Given the description of an element on the screen output the (x, y) to click on. 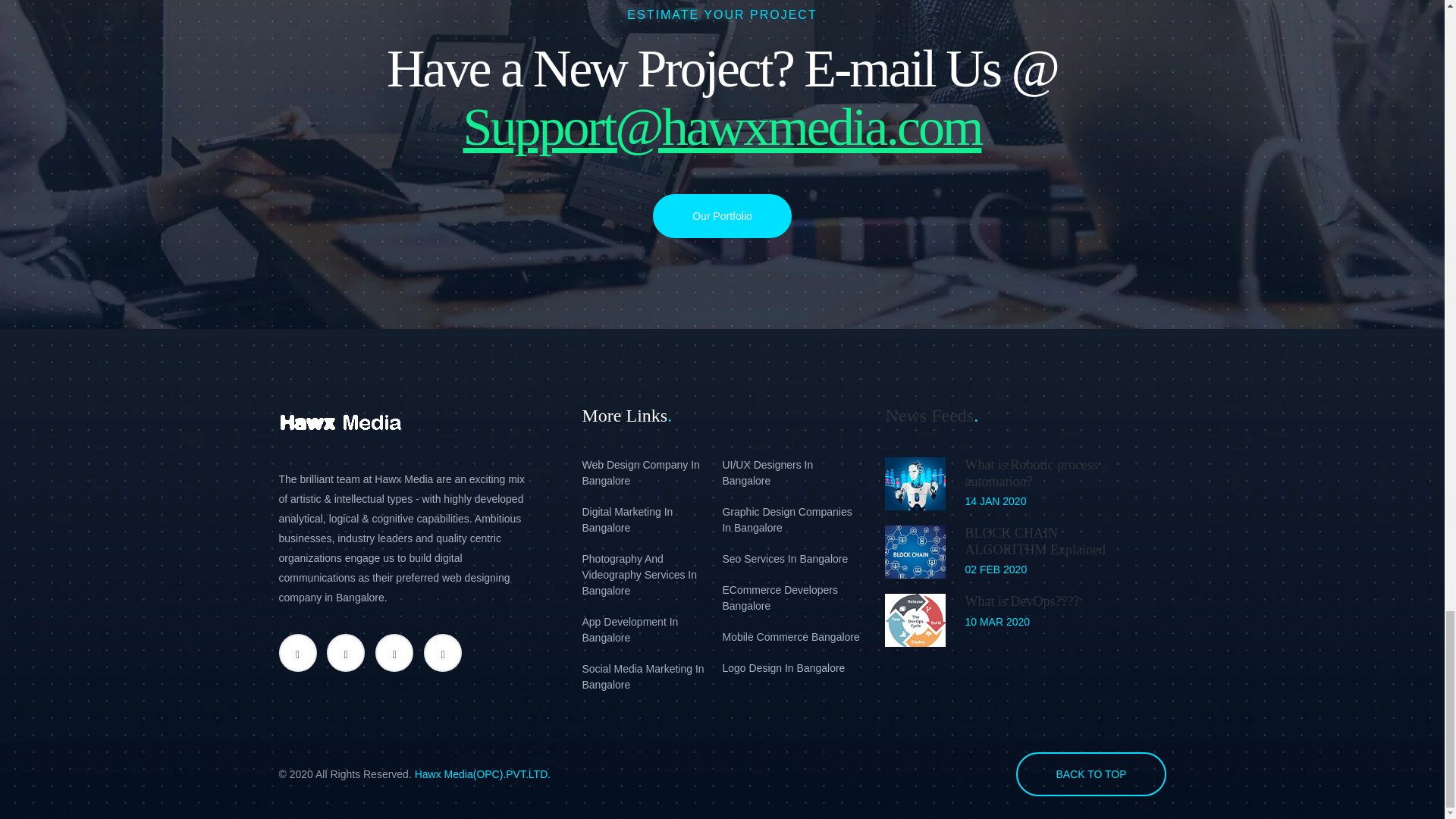
What is DevOps???? (1020, 601)
Mobile Commerce Bangalore (791, 637)
Logo Design In Bangalore (791, 668)
Seo Services In Bangalore (791, 559)
App Development In Bangalore (651, 630)
ECommerce Developers Bangalore (791, 598)
What is Robotic process automation? (1030, 472)
Photography And Videography Services In Bangalore (651, 574)
Web Design Company In Bangalore (651, 472)
Digital Marketing In Bangalore (651, 520)
